Given the description of an element on the screen output the (x, y) to click on. 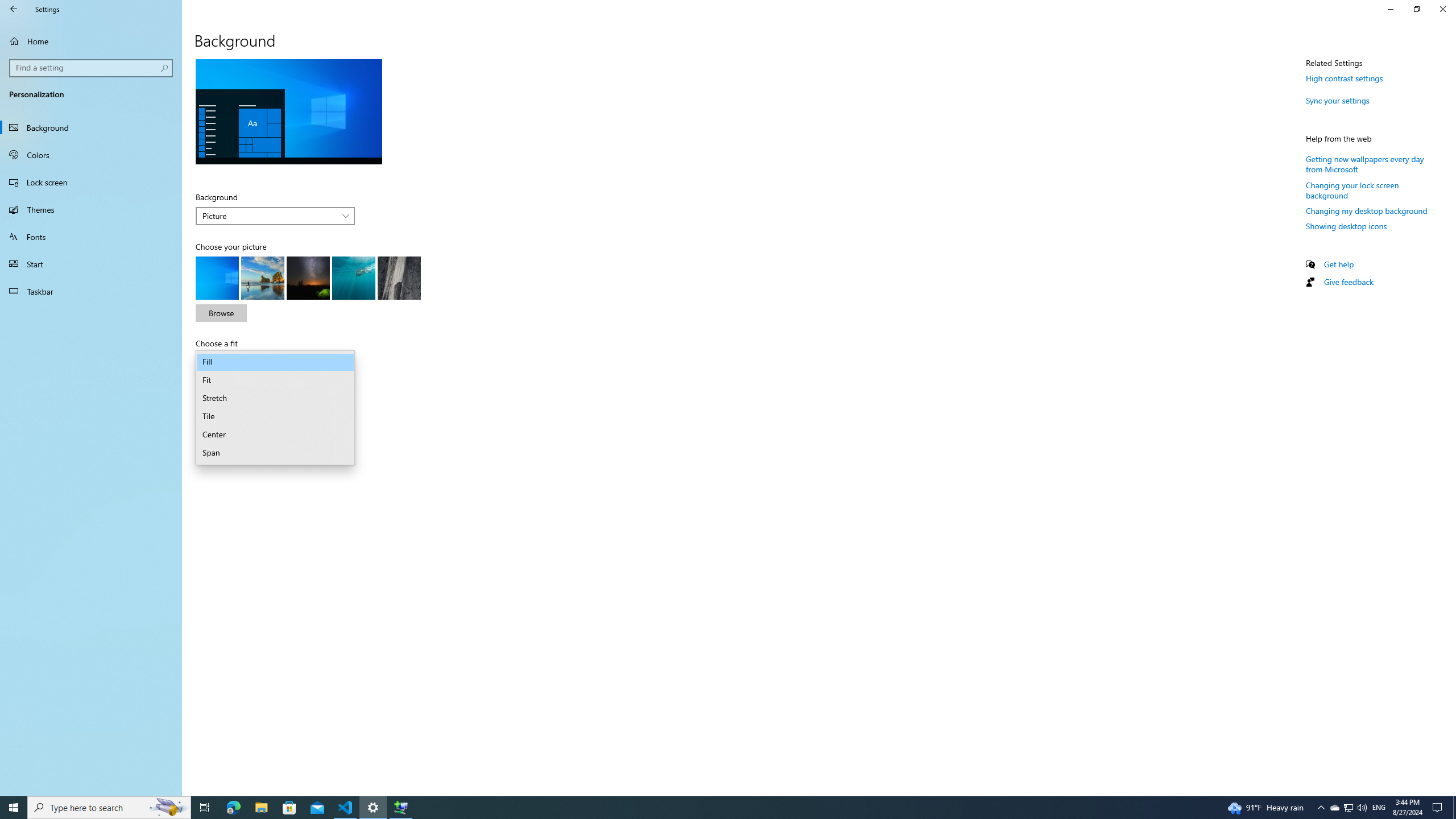
Running applications (706, 807)
Start (13, 807)
Choose a fit (275, 361)
Picture (269, 215)
Getting new wallpapers every day from Microsoft (1364, 163)
Home (91, 40)
Restore Settings (1416, 9)
Start (91, 263)
Settings - 1 running window (373, 807)
Microsoft Store (289, 807)
Tray Input Indicator - English (United States) (1347, 807)
Type here to search (1378, 807)
Colors (108, 807)
